Given the description of an element on the screen output the (x, y) to click on. 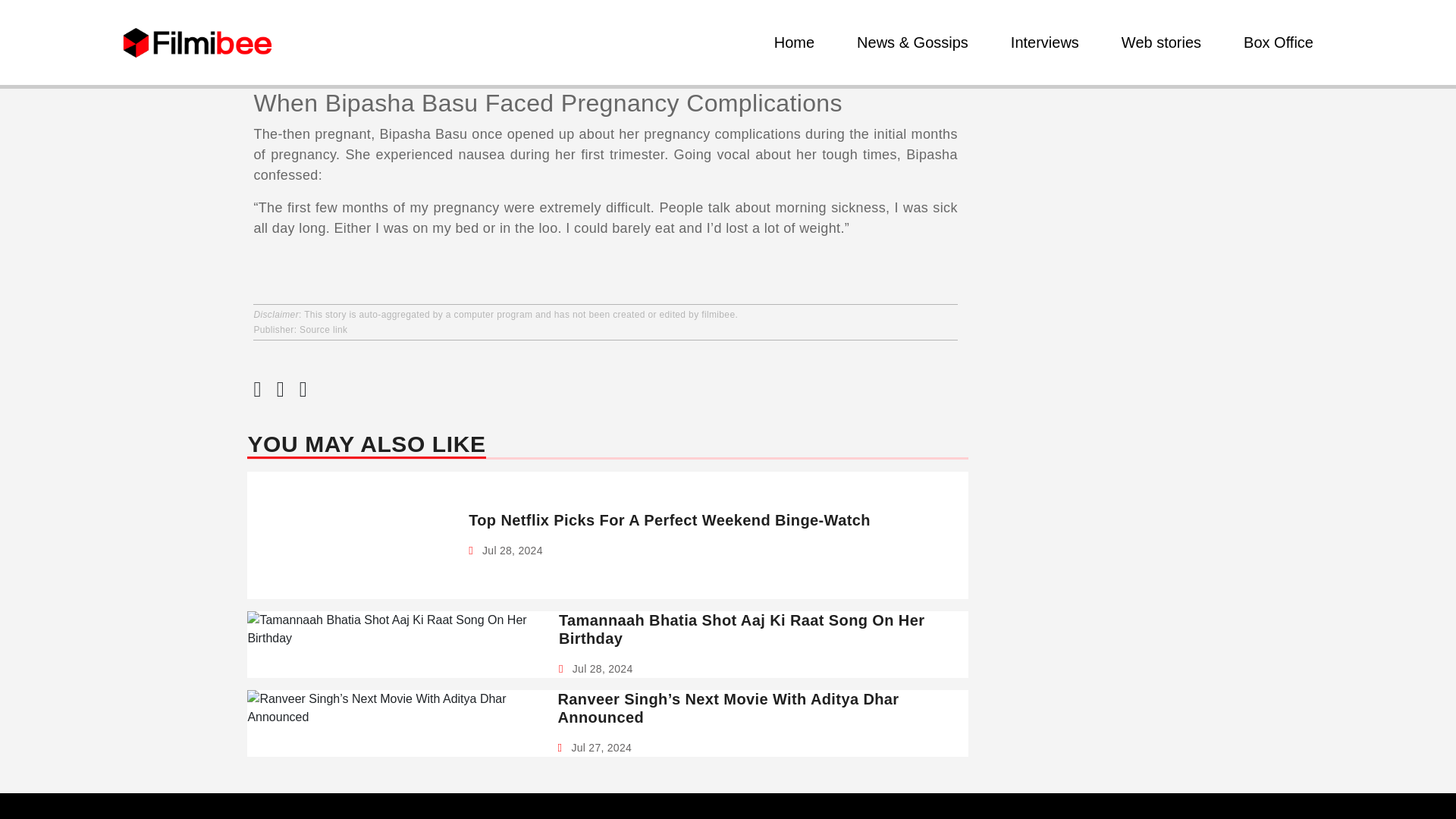
Top Netflix Picks For A Perfect Weekend Binge-Watch (669, 520)
Tamannaah Bhatia Shot Aaj Ki Raat Song On Her Birthday (757, 628)
Top Netflix Picks For A Perfect Weekend Binge-Watch (669, 520)
Source link (323, 329)
Tamannaah Bhatia Shot Aaj Ki Raat Song On Her Birthday (757, 628)
